Given the description of an element on the screen output the (x, y) to click on. 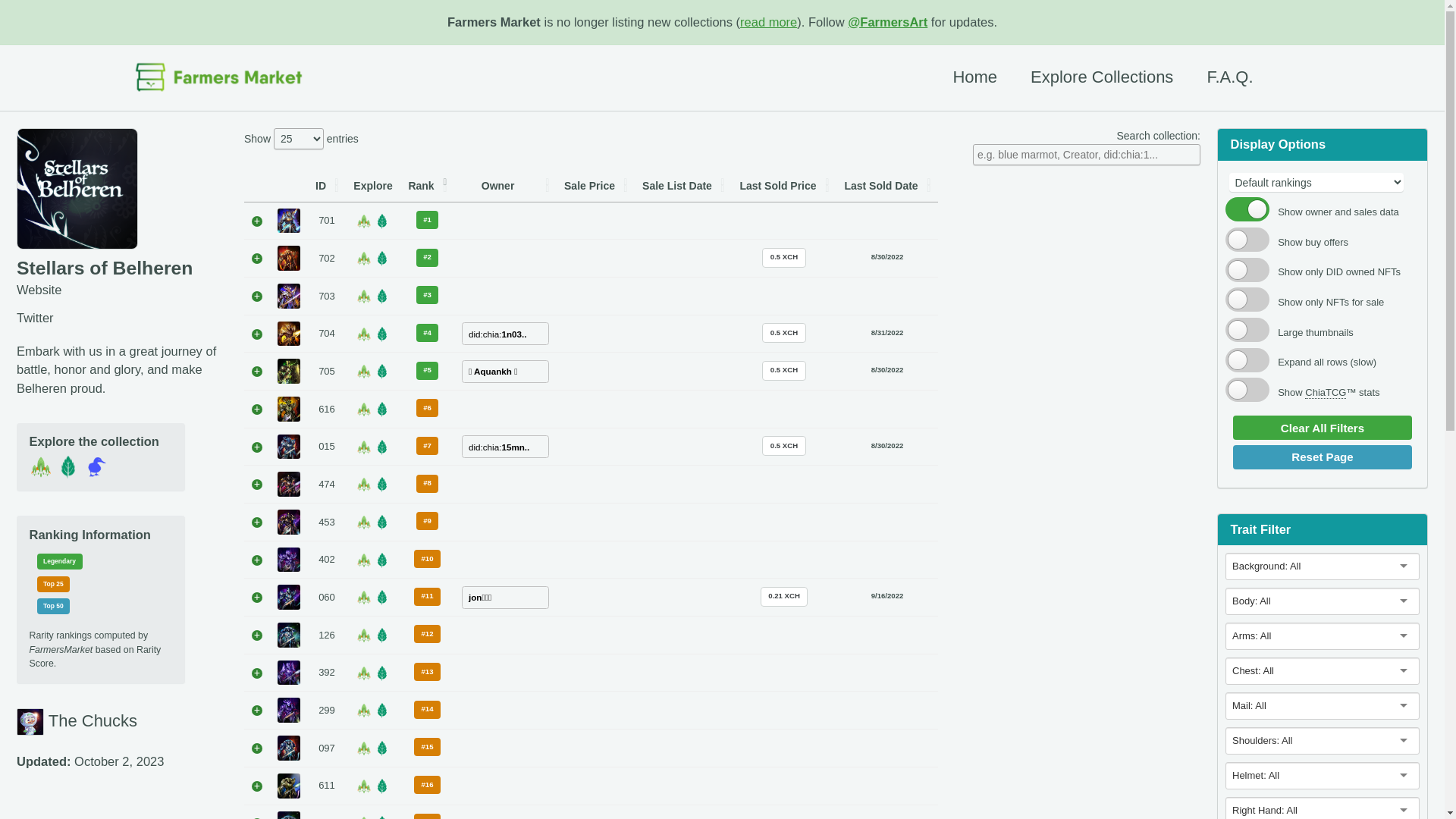
Explore Collections Element type: text (1101, 76)
Website Element type: text (121, 290)
did:chia:15mn.. Element type: text (505, 446)
Skip to primary navigation Element type: text (0, 0)
Toggle search Element type: text (1290, 77)
@FarmersArt Element type: text (887, 21)
Clear All Filters Element type: text (1322, 427)
read more Element type: text (768, 21)
did:chia:1n03.. Element type: text (505, 333)
Reset Page Element type: text (1322, 457)
Home Element type: text (974, 76)
Twitter Element type: text (121, 318)
F.A.Q. Element type: text (1229, 76)
